Given the description of an element on the screen output the (x, y) to click on. 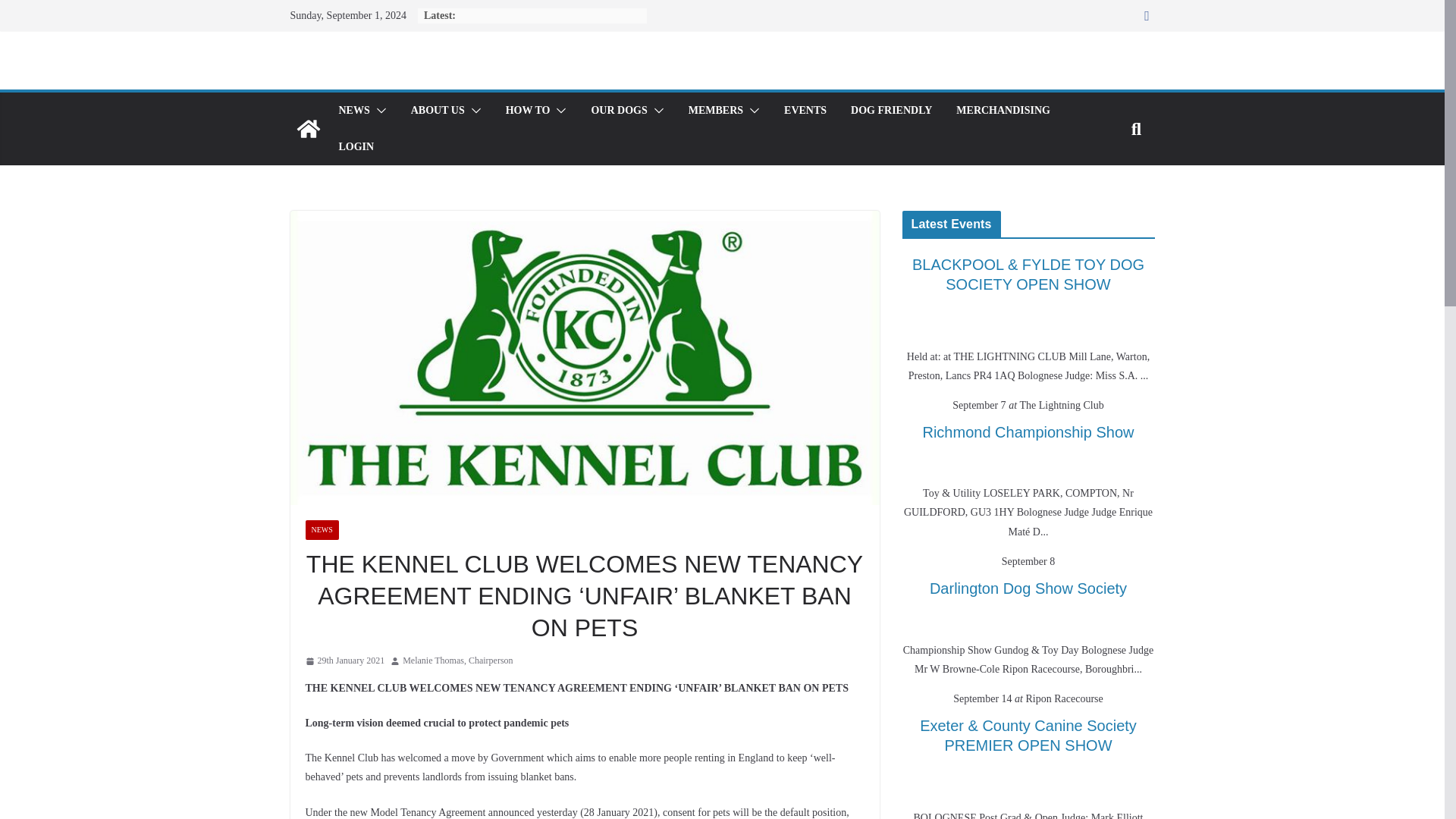
OUR DOGS (618, 110)
11:56 am (344, 660)
HOW TO (527, 110)
MEMBERS (715, 110)
Melanie Thomas, Chairperson (457, 660)
DOG FRIENDLY (890, 110)
NEWS (353, 110)
LOGIN (355, 147)
MERCHANDISING (1002, 110)
ABOUT US (437, 110)
